Given the description of an element on the screen output the (x, y) to click on. 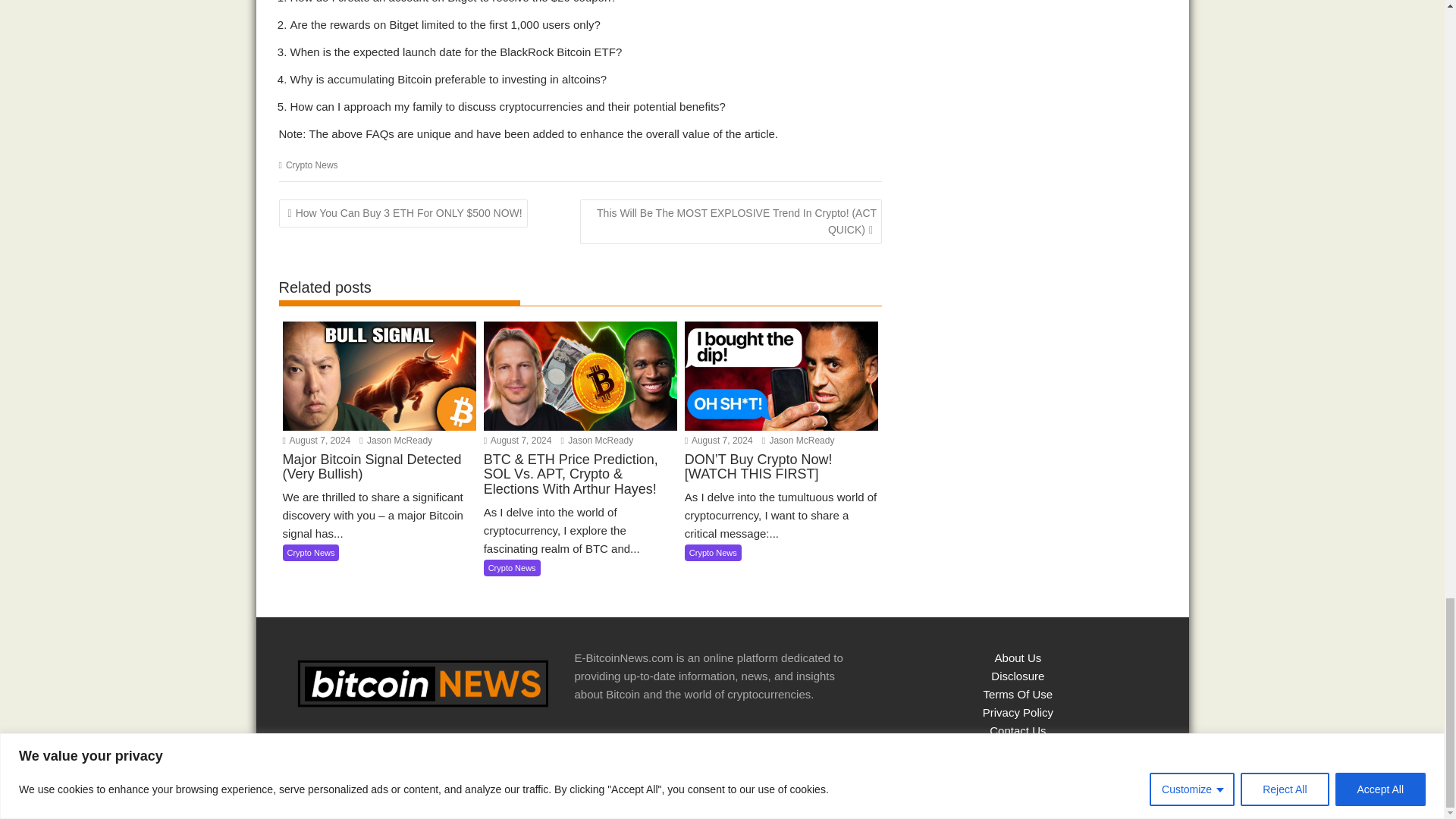
Crypto News (311, 164)
Jason McReady (797, 439)
Jason McReady (395, 439)
Jason McReady (596, 439)
